Given the description of an element on the screen output the (x, y) to click on. 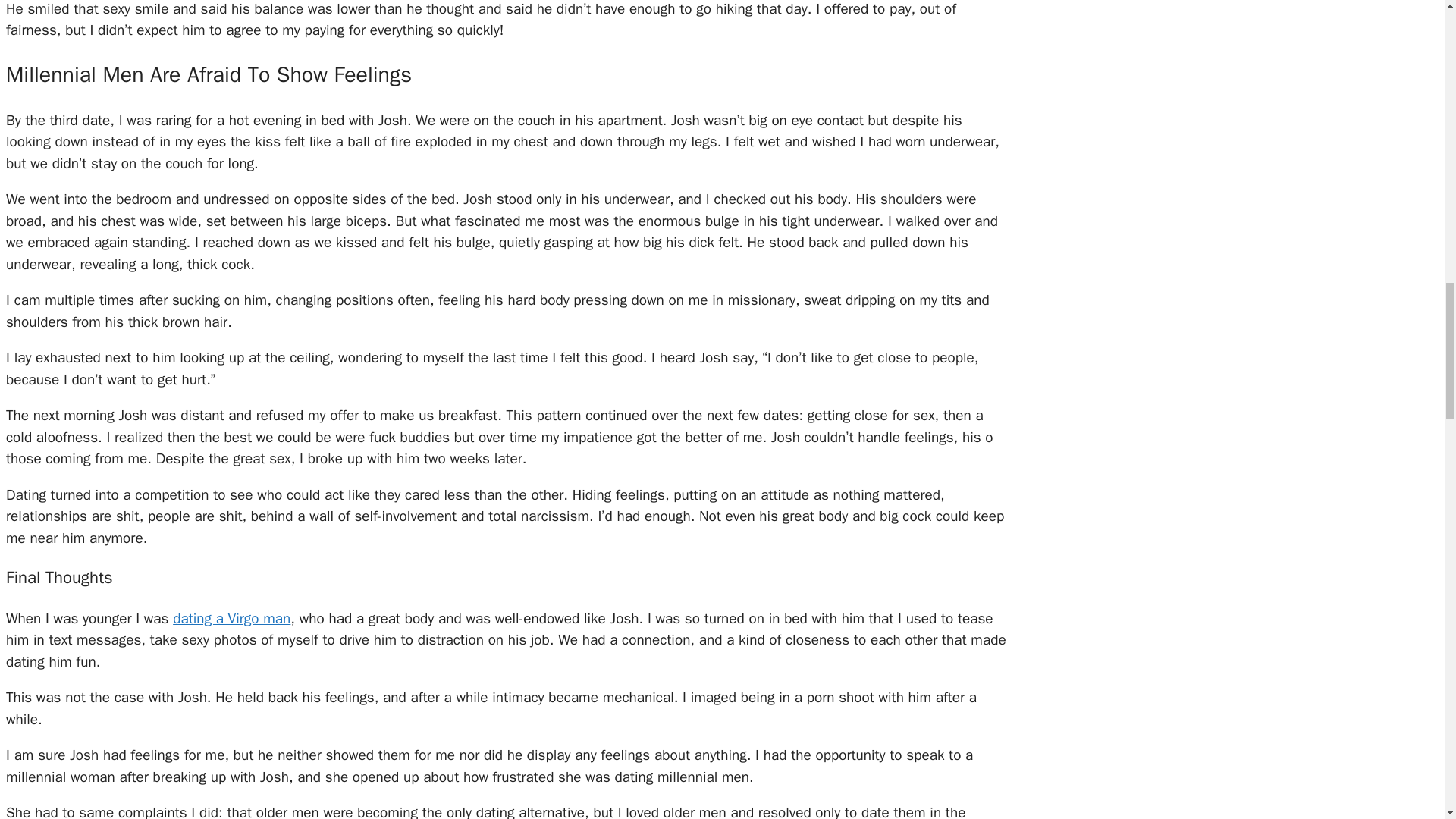
dating a Virgo man (231, 618)
